Given the description of an element on the screen output the (x, y) to click on. 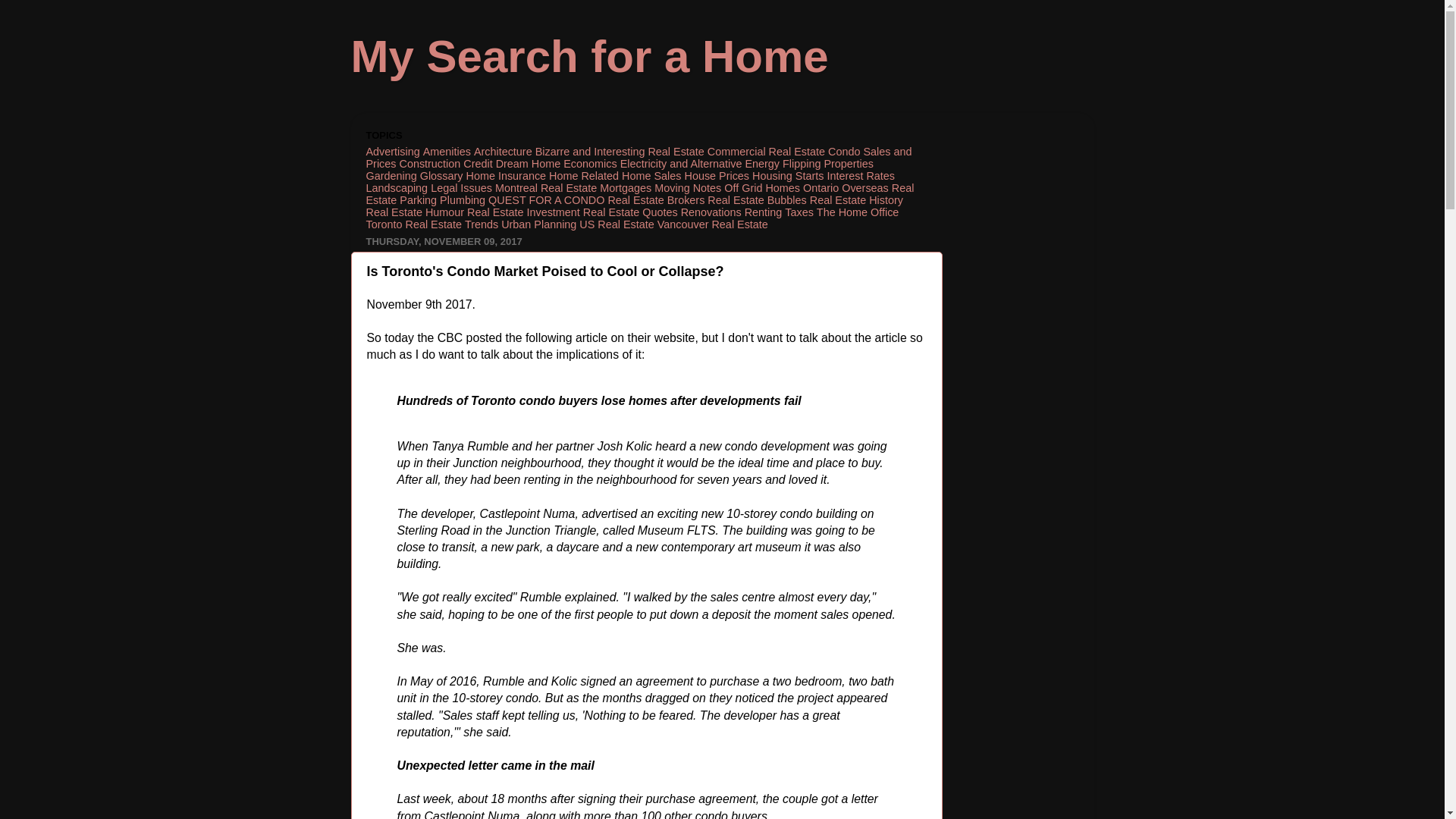
Real Estate History (855, 200)
Notes (707, 187)
Gardening (390, 175)
Landscaping (396, 187)
Plumbing (461, 200)
Electricity and Alternative Energy (699, 163)
Real Estate Investment (523, 212)
Advertising (392, 151)
QUEST FOR A CONDO (545, 200)
Moving (670, 187)
Economics (589, 163)
Parking (417, 200)
Interest Rates (861, 175)
Architecture (503, 151)
Real Estate Humour (414, 212)
